Given the description of an element on the screen output the (x, y) to click on. 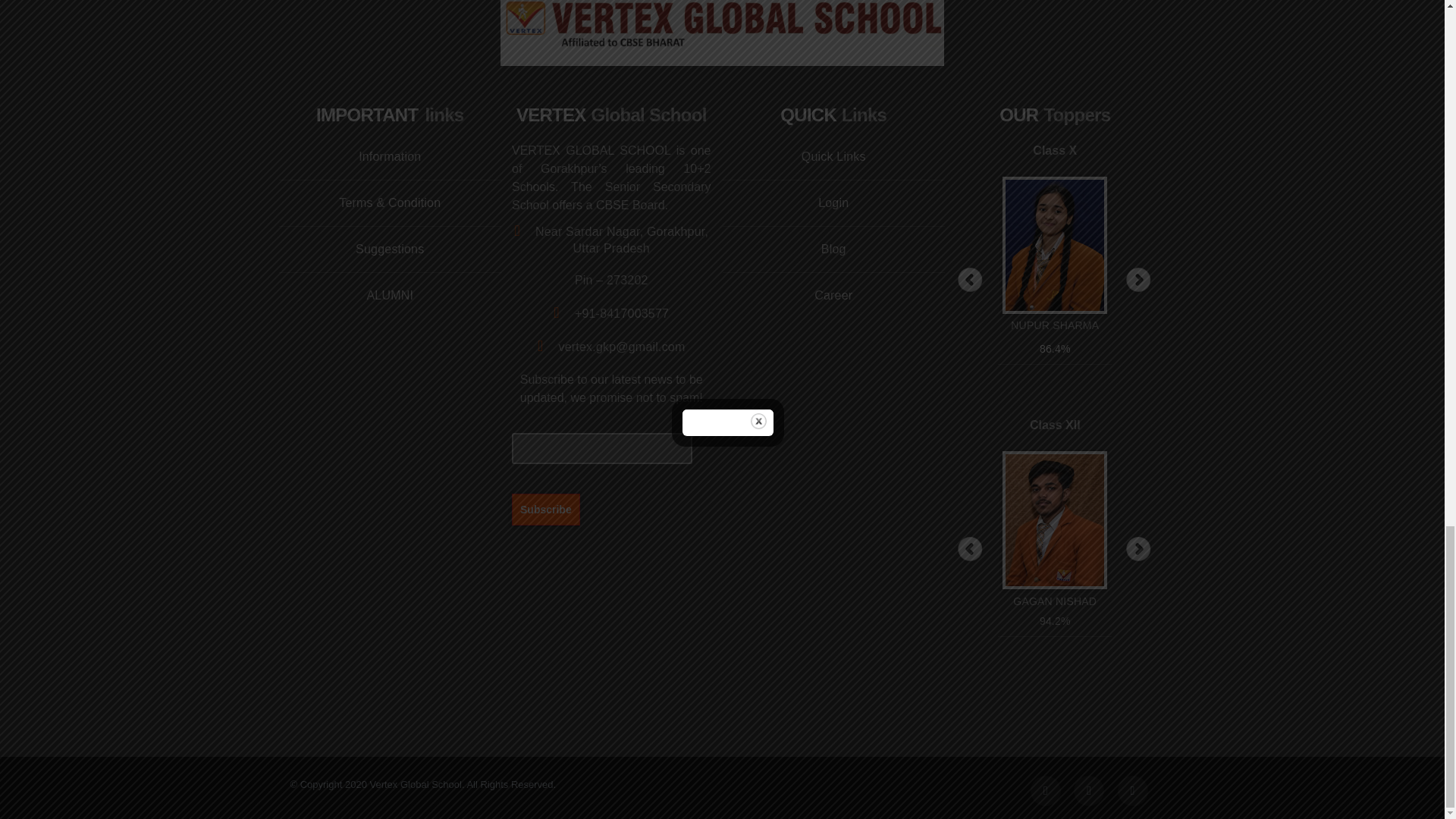
Subscribe (545, 508)
